Given the description of an element on the screen output the (x, y) to click on. 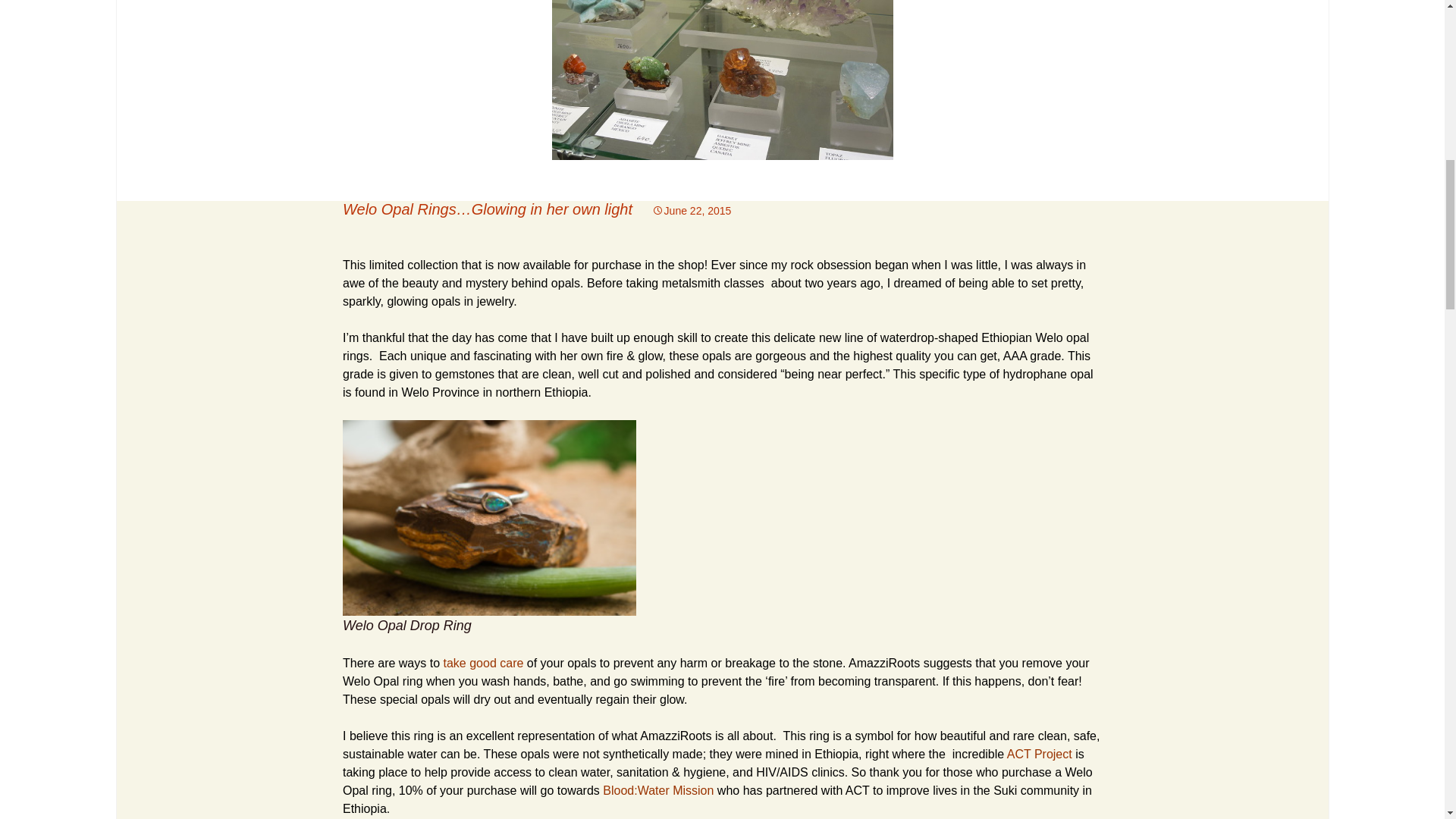
regain their glow (639, 698)
Regain Glow (639, 698)
ACT Project (1039, 753)
June 22, 2015 (692, 210)
Blood:Water Mission (657, 789)
take good care (482, 662)
Why Amazzi? (675, 735)
AmazziRoots (675, 735)
ACT Project (1039, 753)
BloodWater Mission (657, 789)
